Given the description of an element on the screen output the (x, y) to click on. 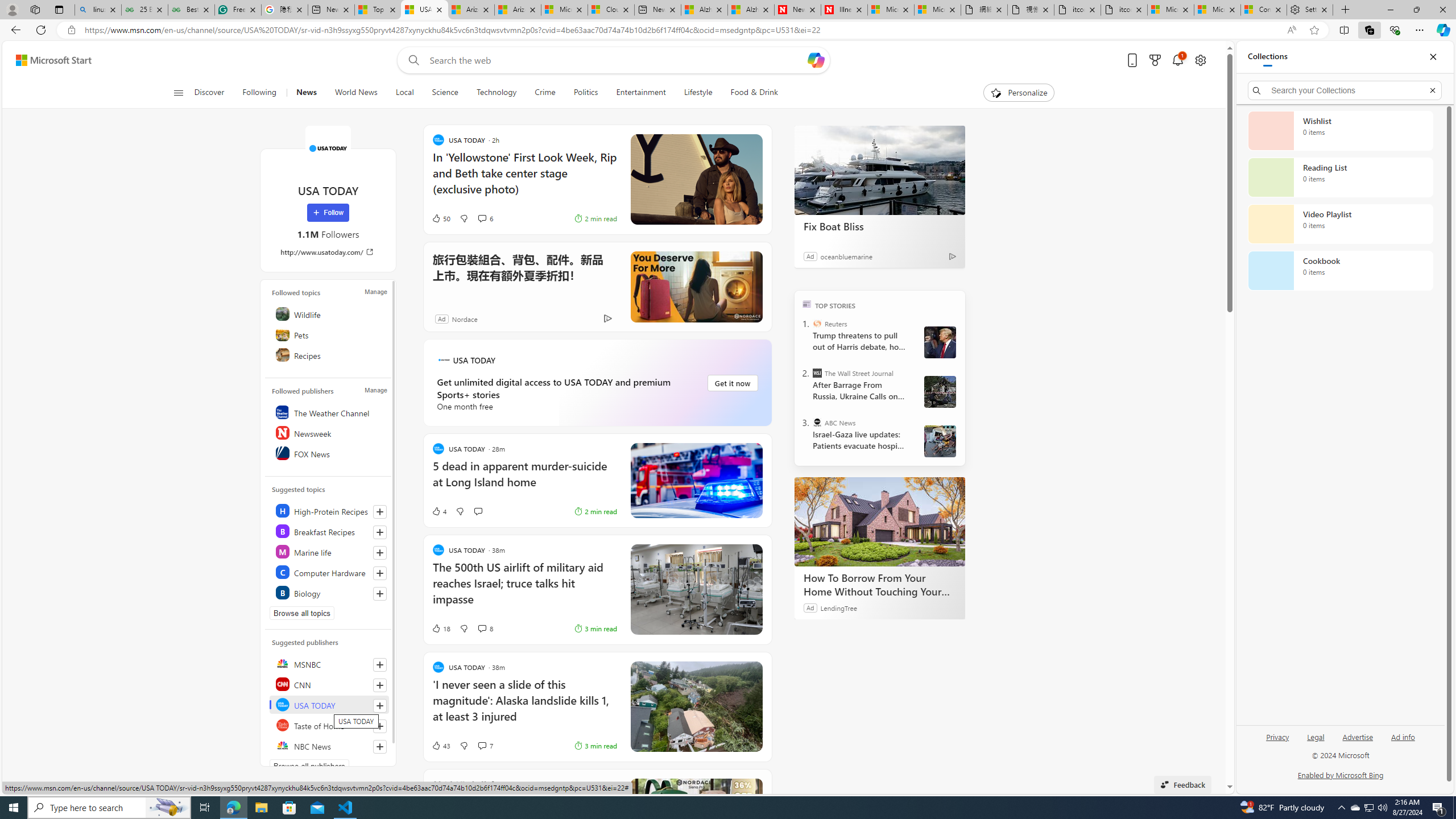
ABC News (816, 422)
